Given the description of an element on the screen output the (x, y) to click on. 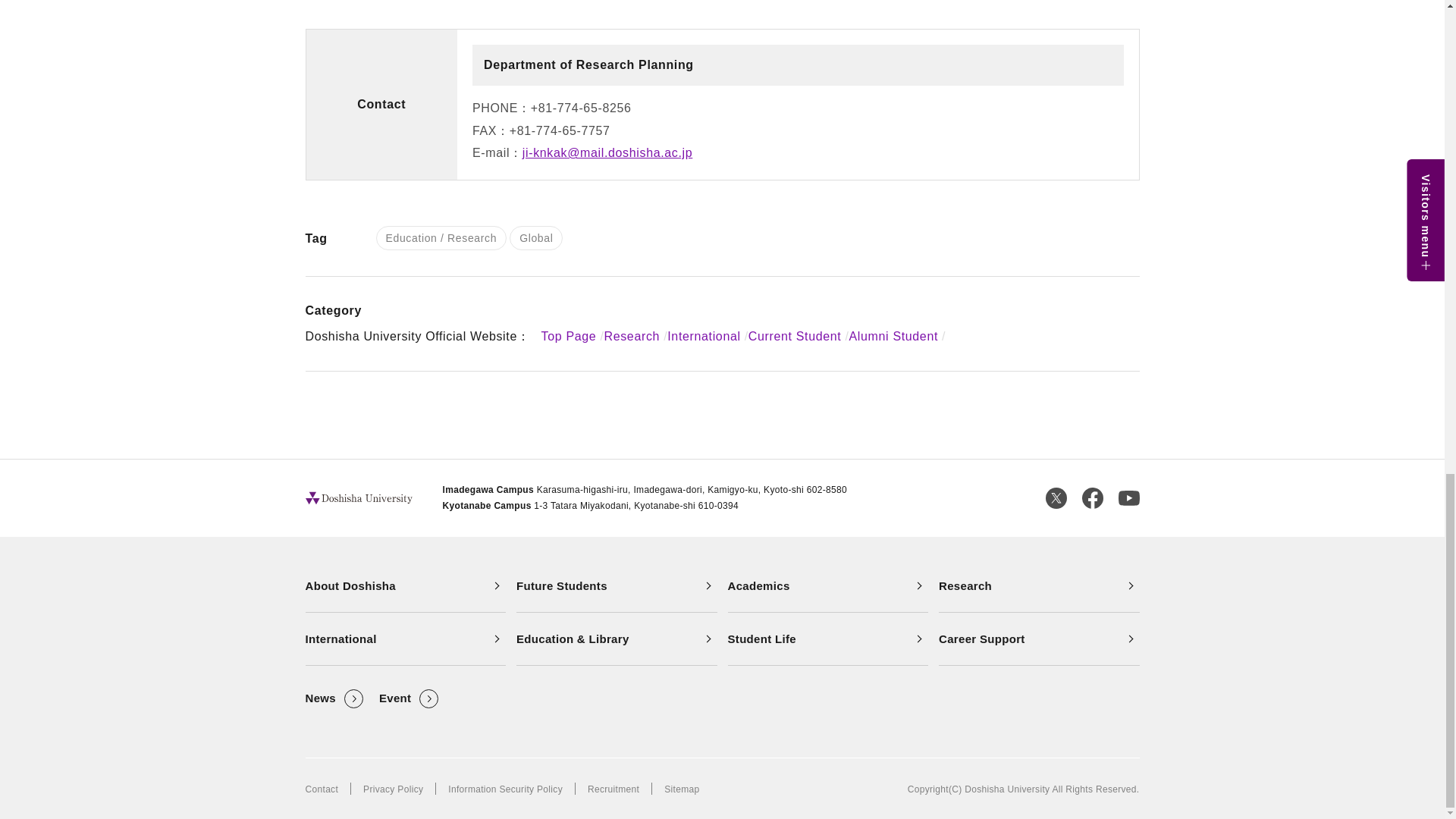
Facebook (1091, 497)
YouTube (1128, 497)
X (1055, 497)
